Given the description of an element on the screen output the (x, y) to click on. 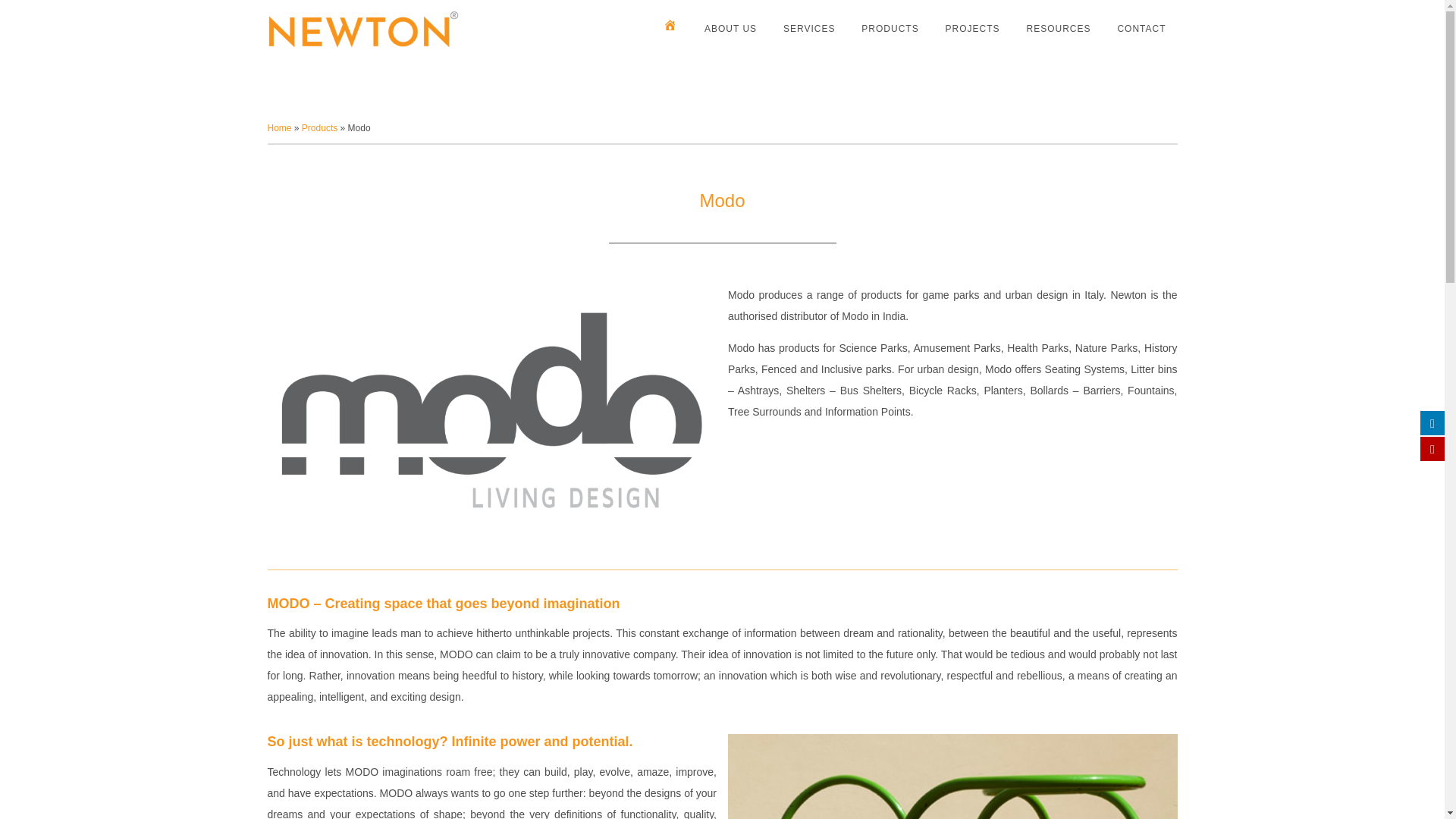
SERVICES (808, 29)
PROJECTS (972, 29)
ABOUT US (730, 29)
modo (952, 776)
Home (278, 127)
PRODUCTS (890, 29)
CONTACT (1140, 29)
MODO LOGO (491, 407)
RESOURCES (1058, 29)
Products (319, 127)
